Given the description of an element on the screen output the (x, y) to click on. 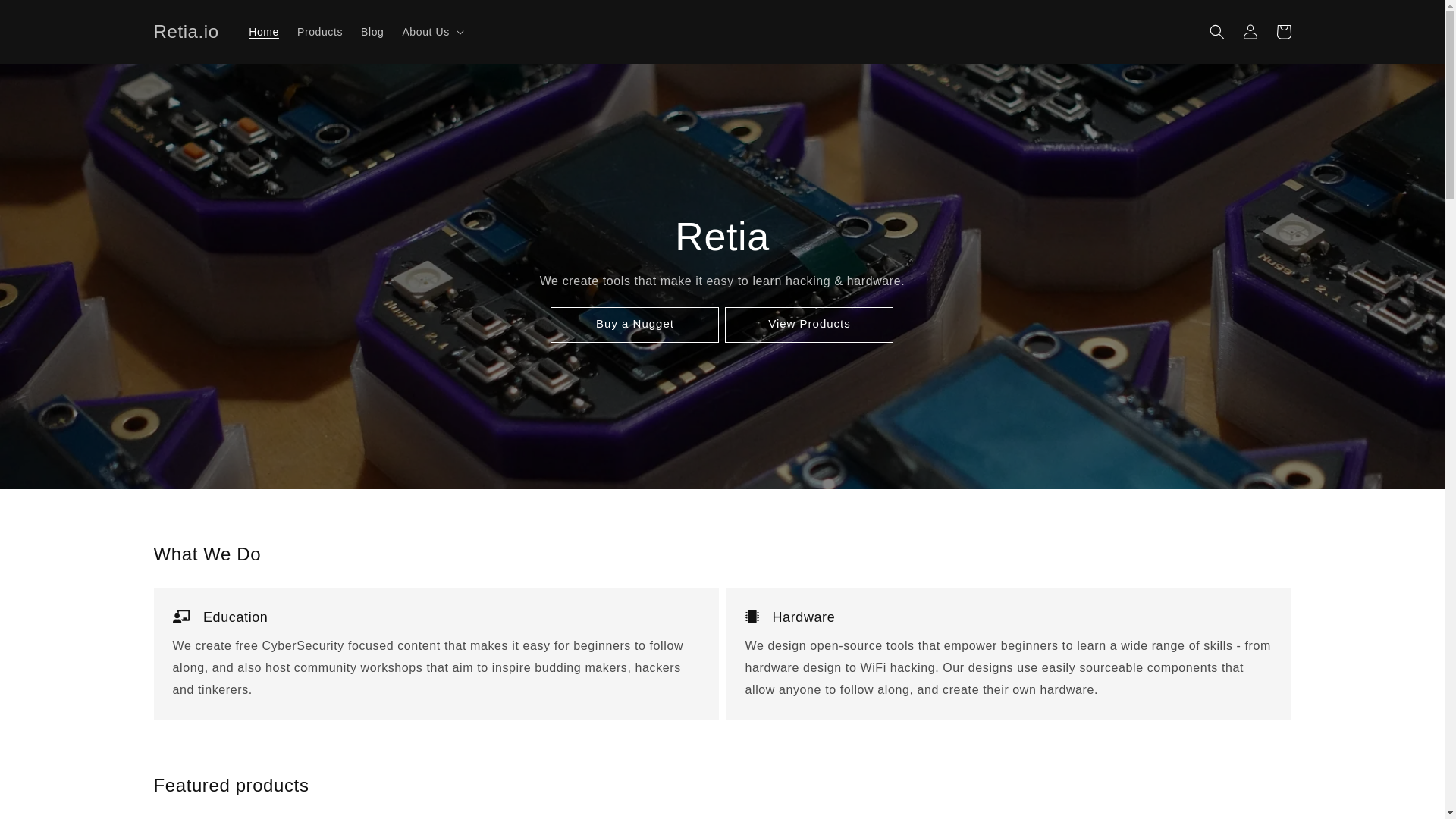
Cart (1283, 31)
Products (320, 31)
Retia.io (186, 30)
View Products (808, 324)
Buy a Nugget (634, 324)
Home (264, 31)
Blog (372, 31)
Skip to content (45, 16)
Log in (1249, 31)
